Given the description of an element on the screen output the (x, y) to click on. 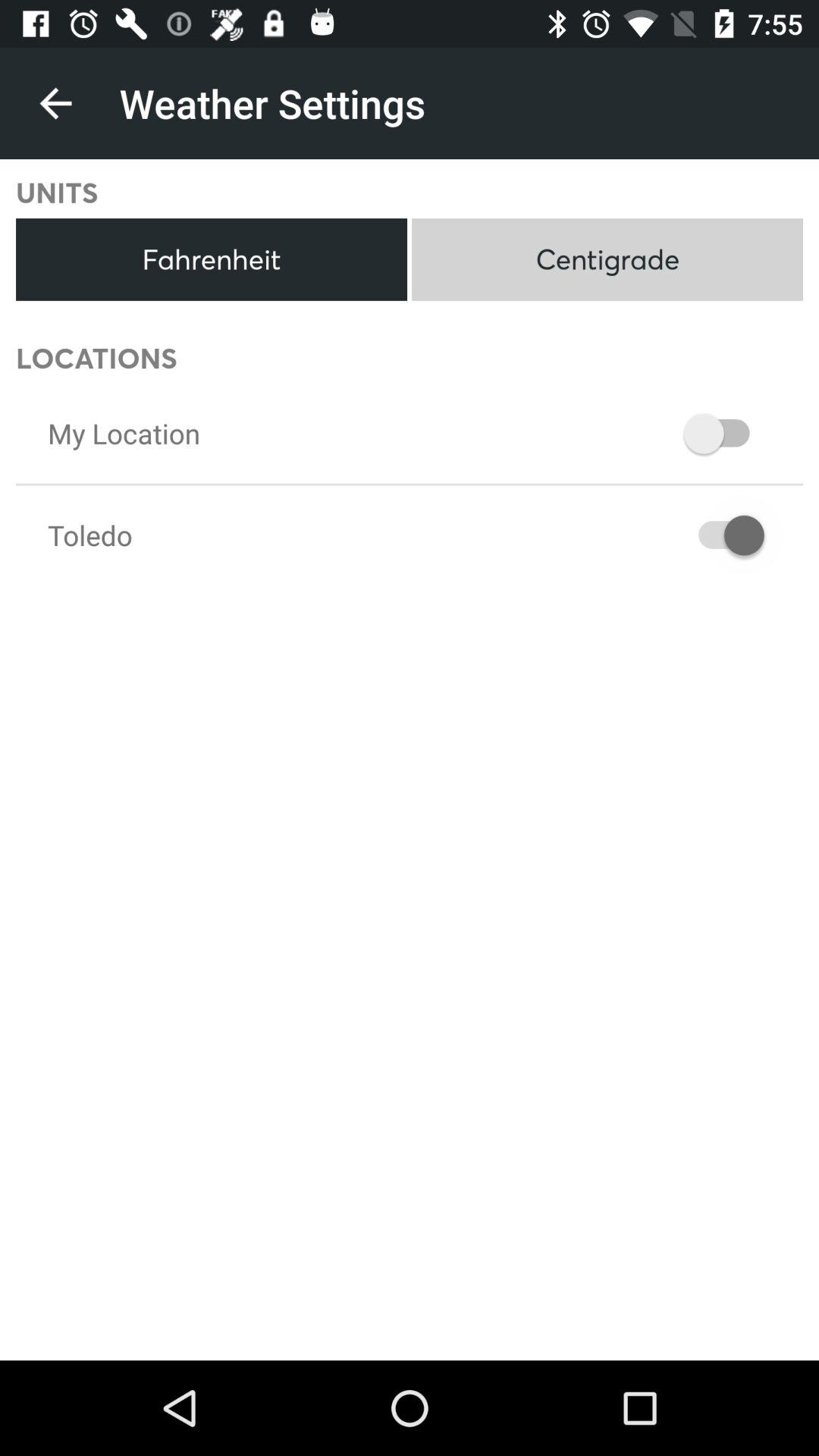
turn off my location item (123, 433)
